Given the description of an element on the screen output the (x, y) to click on. 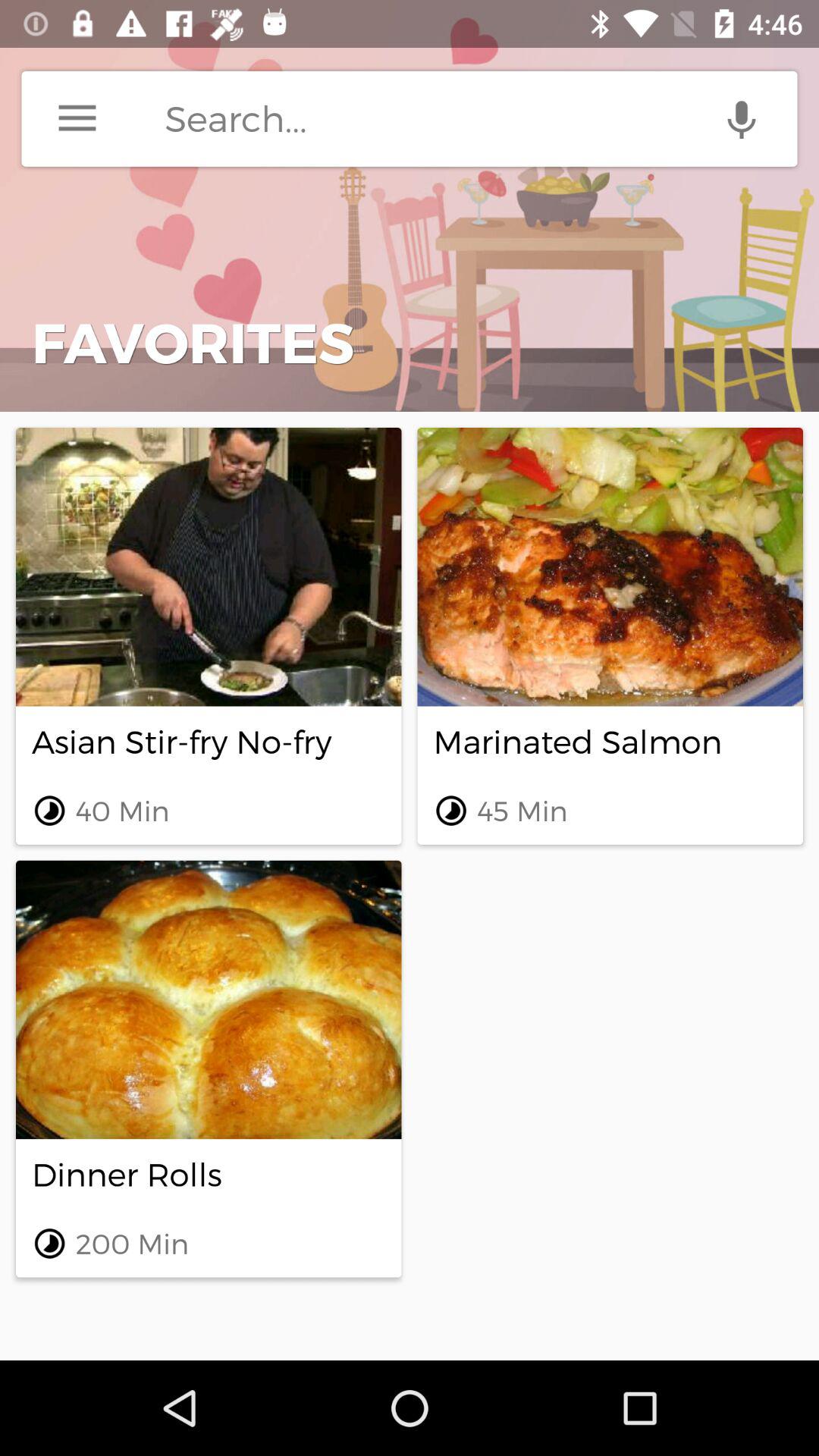
voice search tool (741, 118)
